Given the description of an element on the screen output the (x, y) to click on. 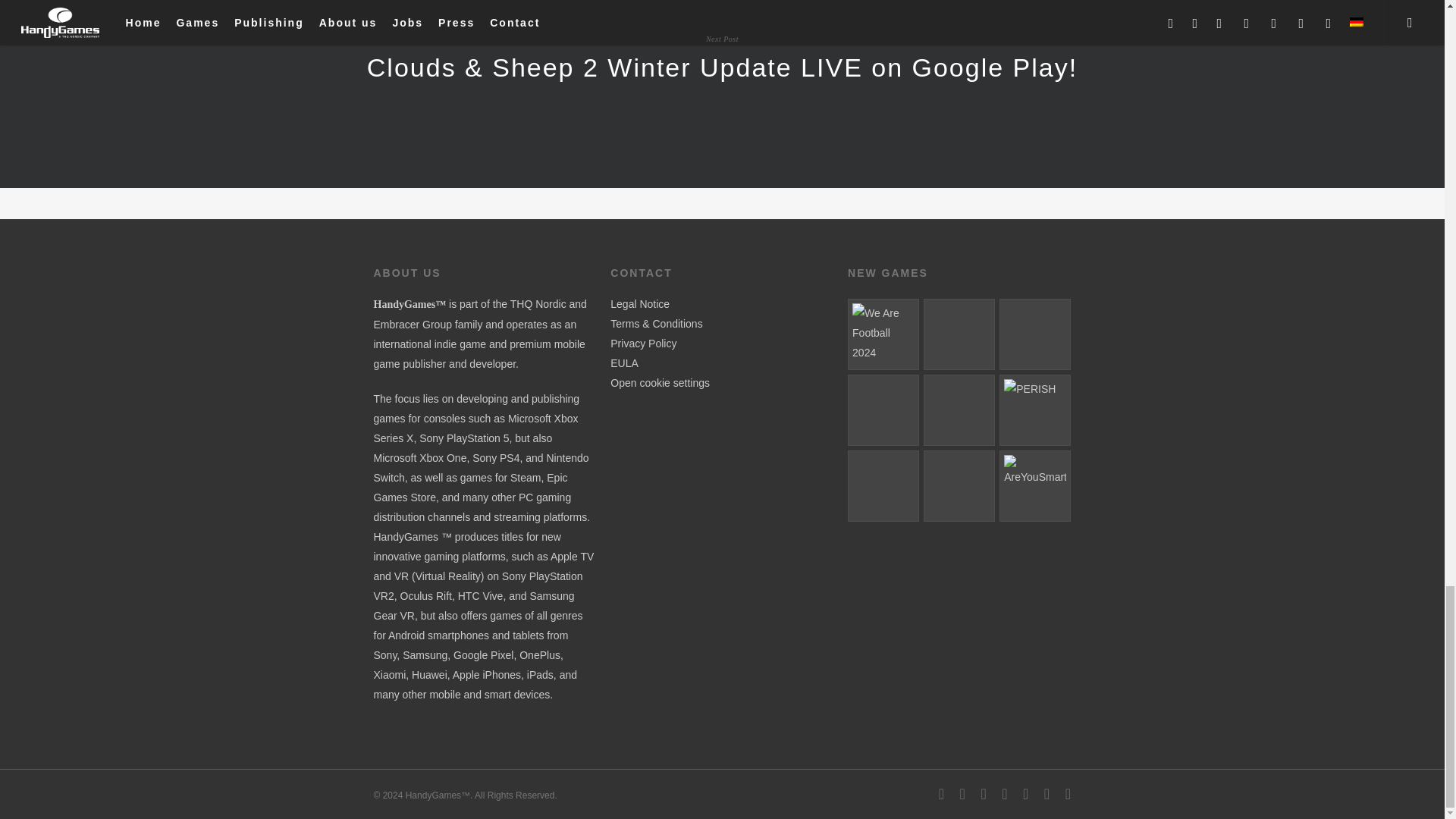
Oddsparks (1034, 334)
Lethal Honor (882, 409)
De-Exit (958, 409)
SpongeBob SquarePants: The Cosmic Shake (958, 334)
Wreckfest (958, 485)
Are You Smarter than a 5th Grader (1034, 485)
PERISH (1034, 409)
Open Cookie Preferences (660, 382)
Airhead (882, 485)
We Are Football 2024 (882, 334)
